Given the description of an element on the screen output the (x, y) to click on. 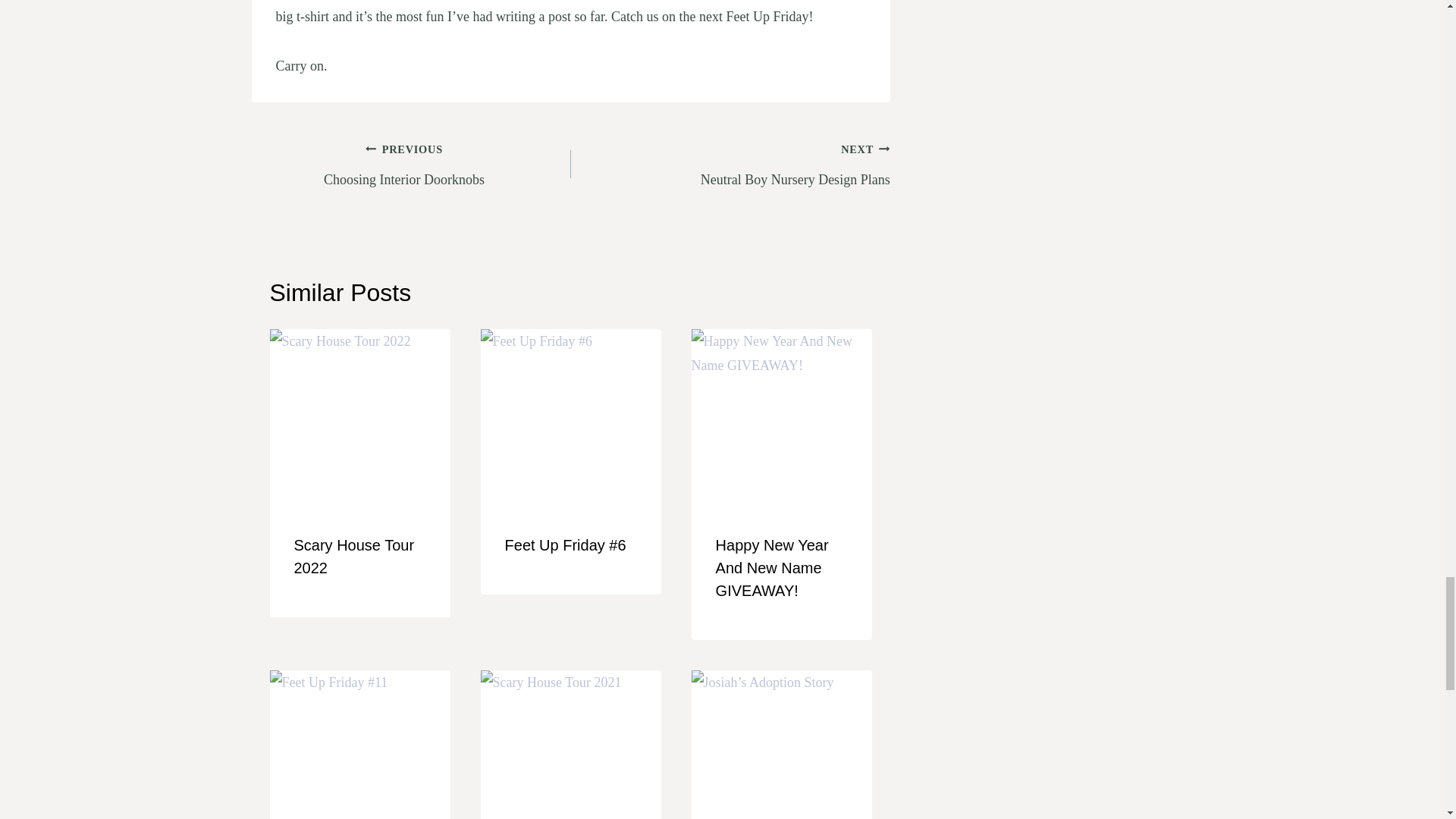
Scary House Tour 2022 (354, 556)
Happy New Year And New Name GIVEAWAY! (729, 164)
